Given the description of an element on the screen output the (x, y) to click on. 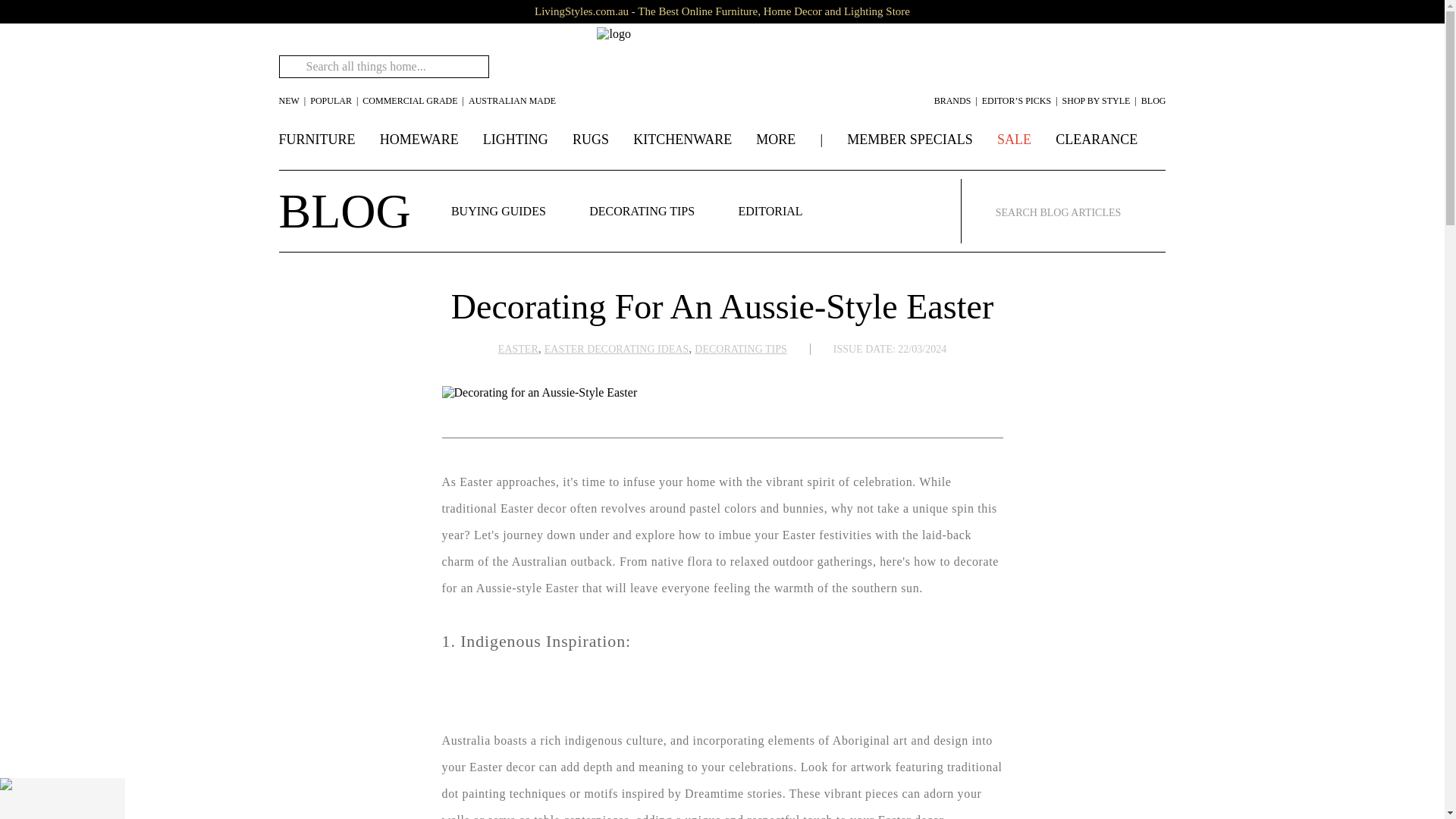
Editorial (770, 210)
Decorating Tips (641, 210)
Buying Guides (498, 210)
